Given the description of an element on the screen output the (x, y) to click on. 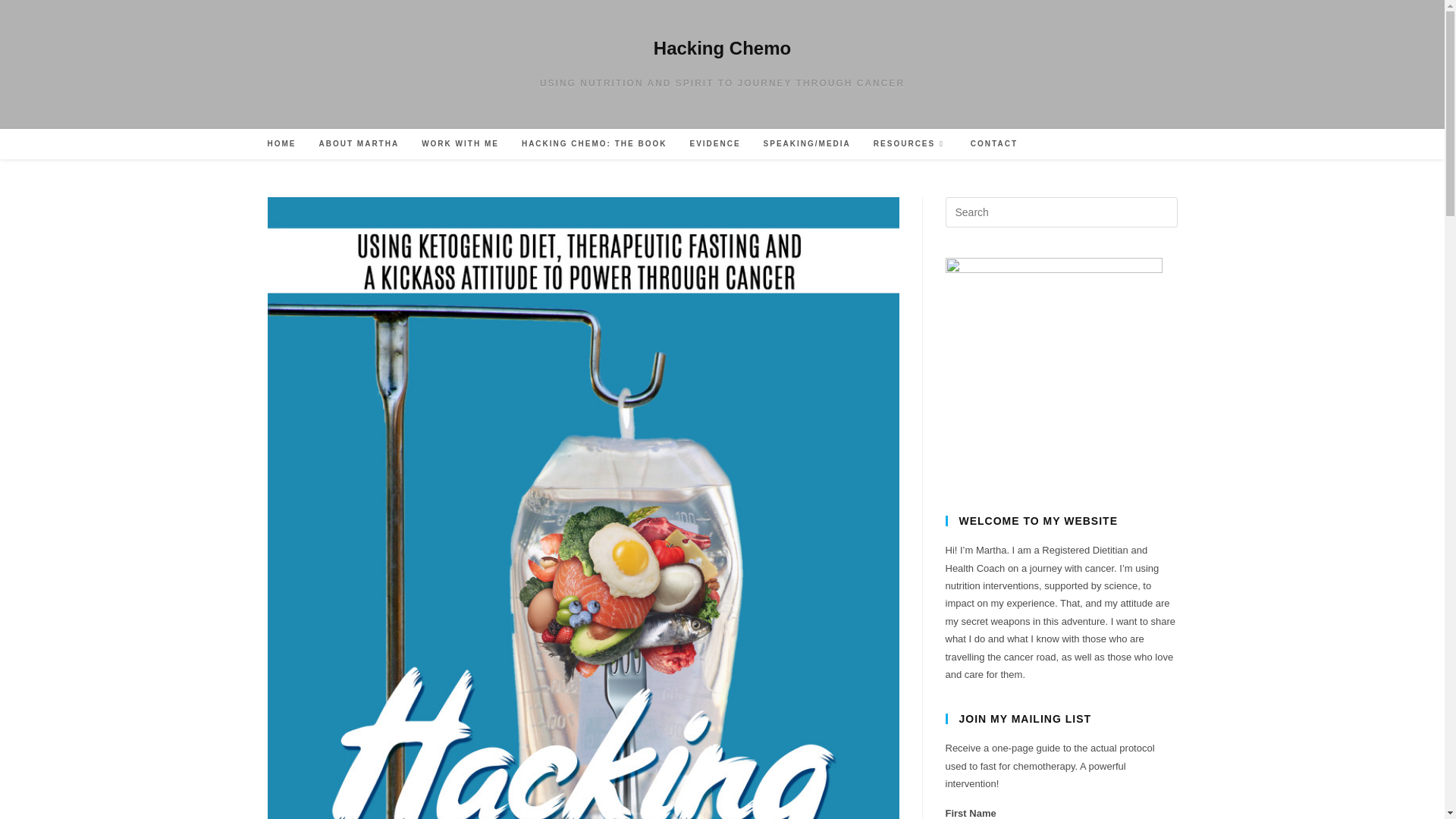
Hacking Chemo (721, 47)
WORK WITH ME (460, 143)
CONTACT (994, 143)
HACKING CHEMO: THE BOOK (594, 143)
HOME (281, 143)
RESOURCES (910, 143)
ABOUT MARTHA (358, 143)
EVIDENCE (714, 143)
